Given the description of an element on the screen output the (x, y) to click on. 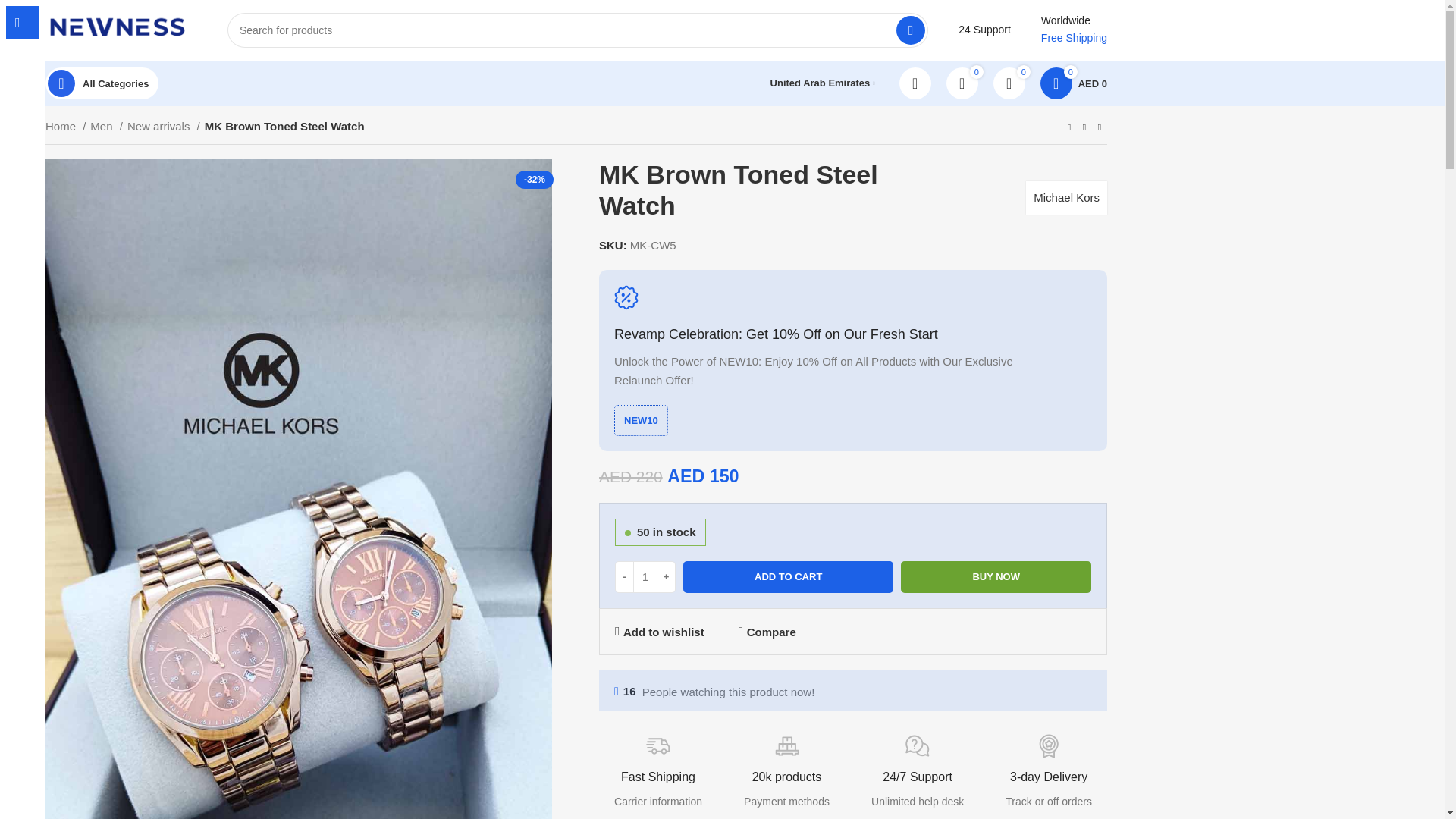
SEARCH (910, 30)
